Given the description of an element on the screen output the (x, y) to click on. 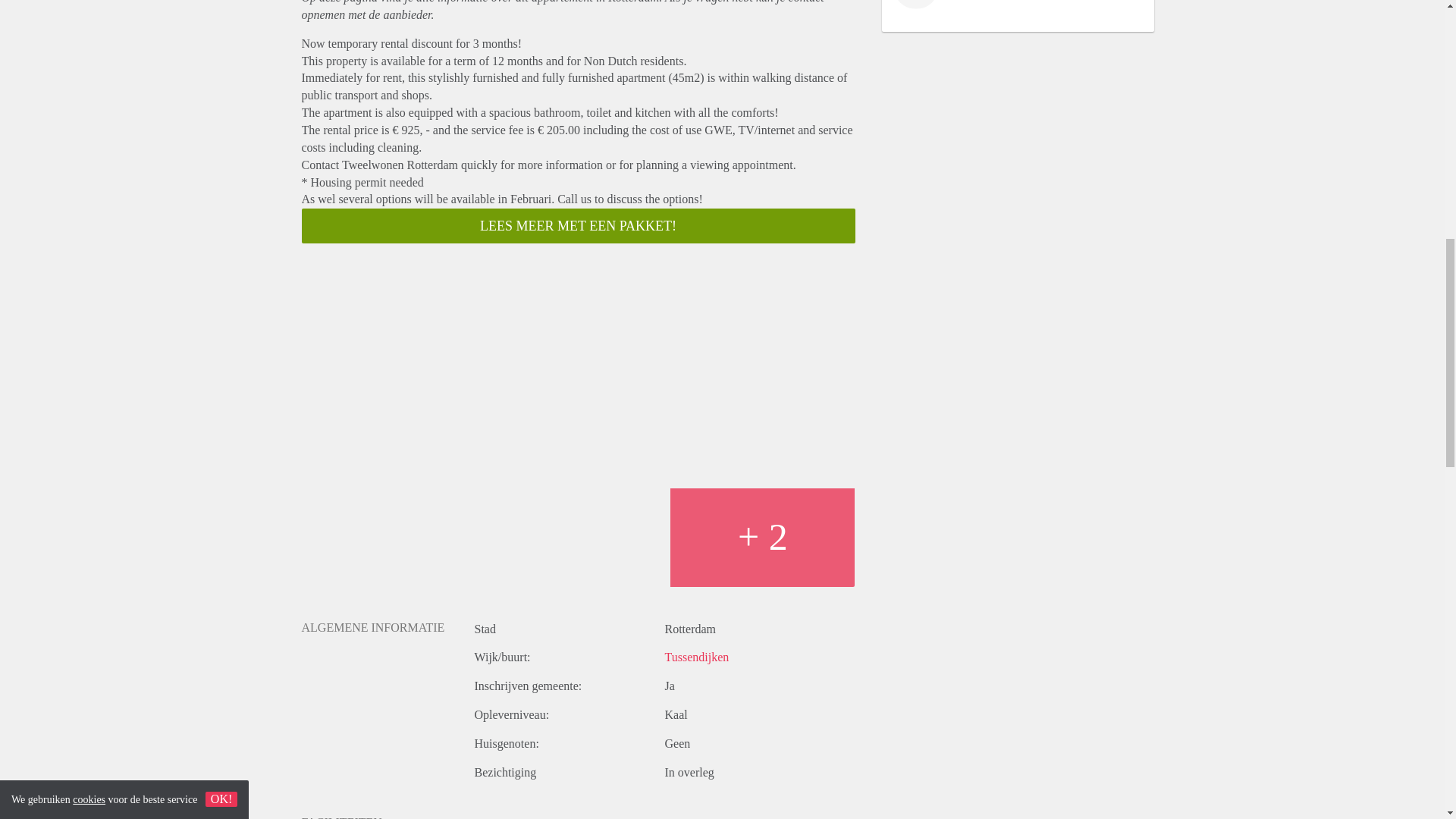
LEES MEER MET EEN PAKKET! (578, 225)
Vraag de adverteerder (743, 818)
Tussendijken (696, 656)
